Given the description of an element on the screen output the (x, y) to click on. 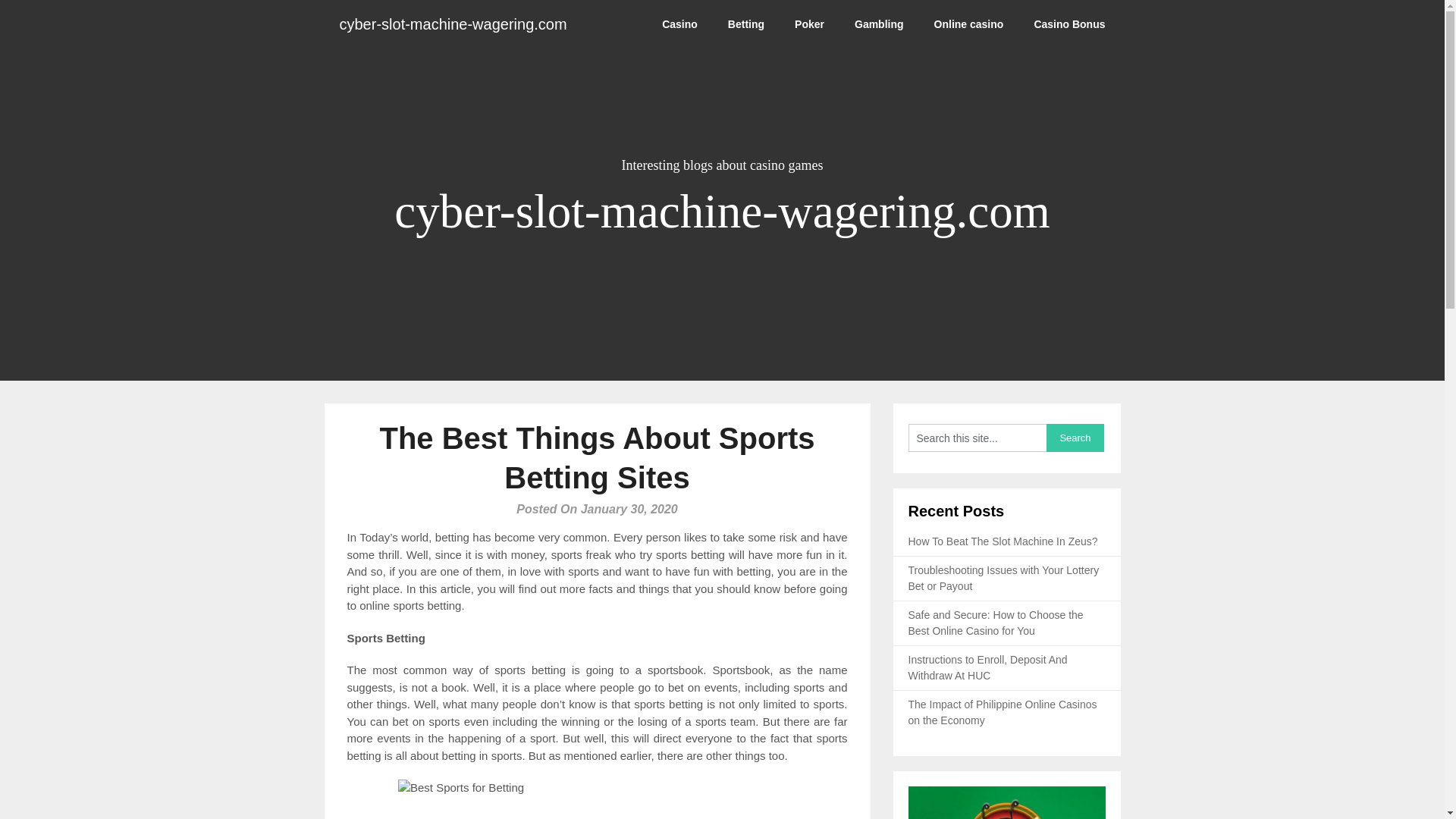
Troubleshooting Issues with Your Lottery Bet or Payout (1003, 578)
Search (1075, 438)
Casino Bonus (1068, 24)
Gambling (879, 24)
Poker (809, 24)
Casino (679, 24)
The Impact of Philippine Online Casinos on the Economy (1002, 712)
Search (1075, 438)
Online casino (968, 24)
Instructions to Enroll, Deposit And Withdraw At HUC (987, 667)
